Given the description of an element on the screen output the (x, y) to click on. 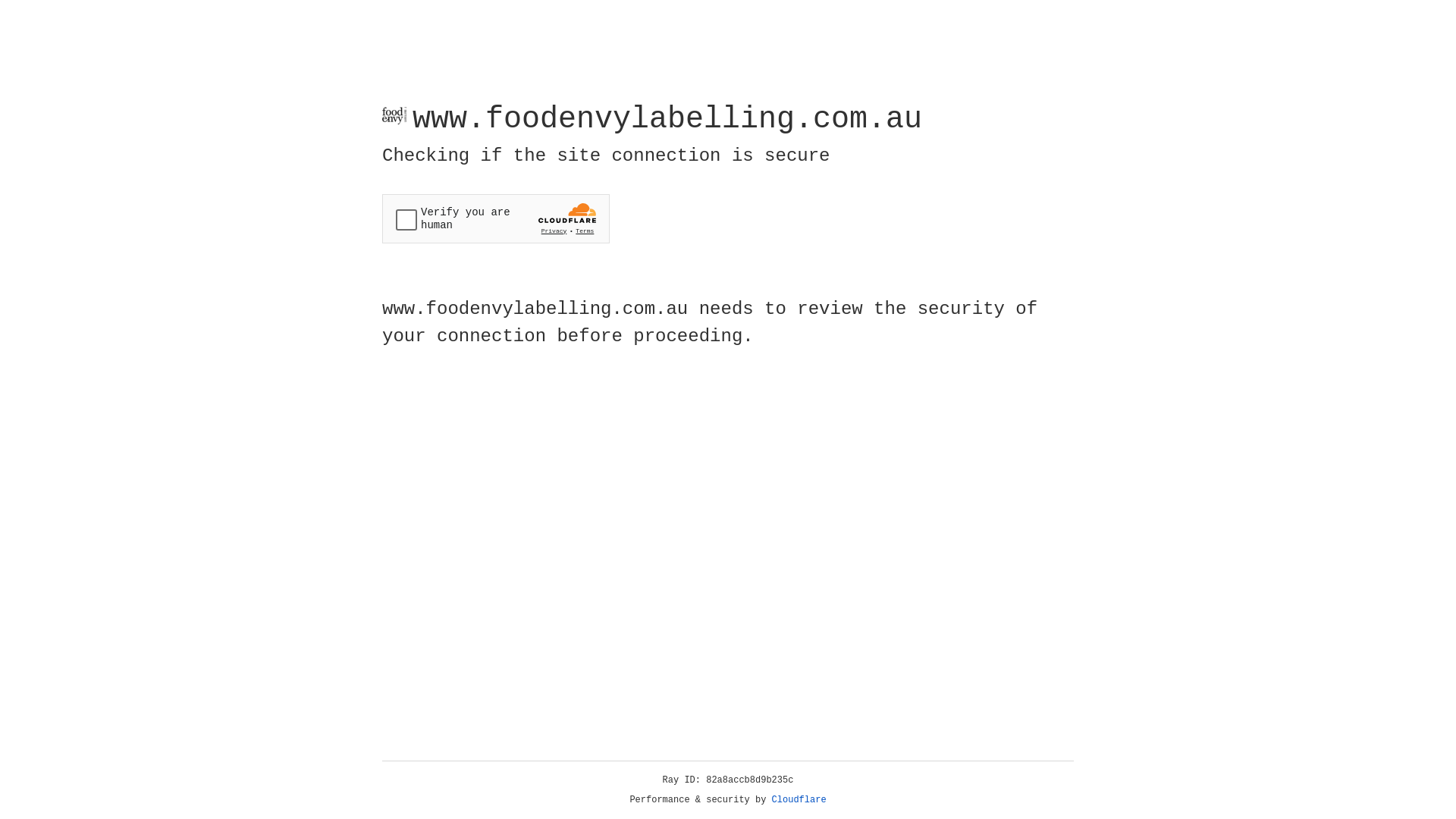
Cloudflare Element type: text (798, 799)
Widget containing a Cloudflare security challenge Element type: hover (495, 218)
